Given the description of an element on the screen output the (x, y) to click on. 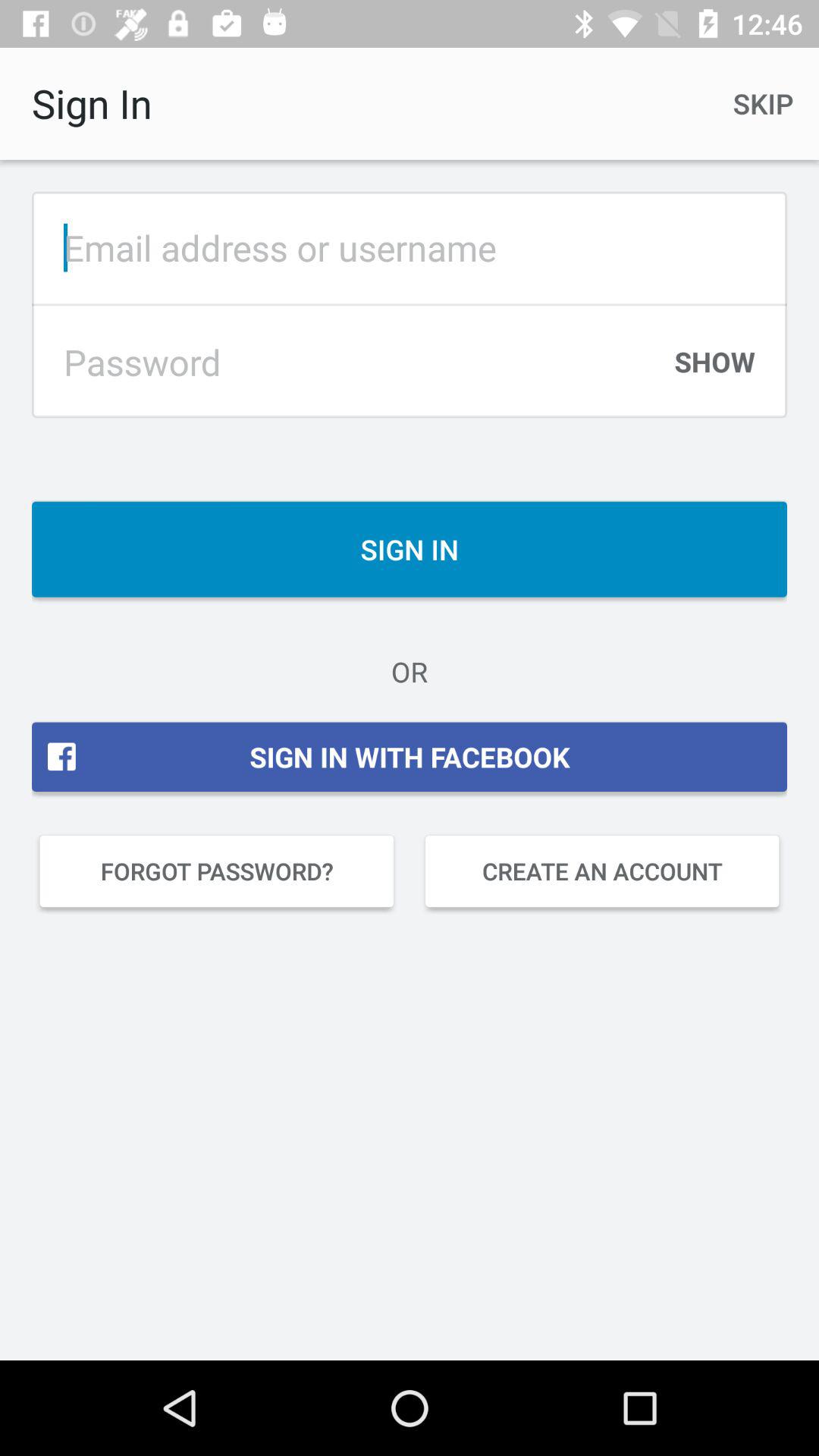
turn off item next to sign in icon (763, 103)
